Given the description of an element on the screen output the (x, y) to click on. 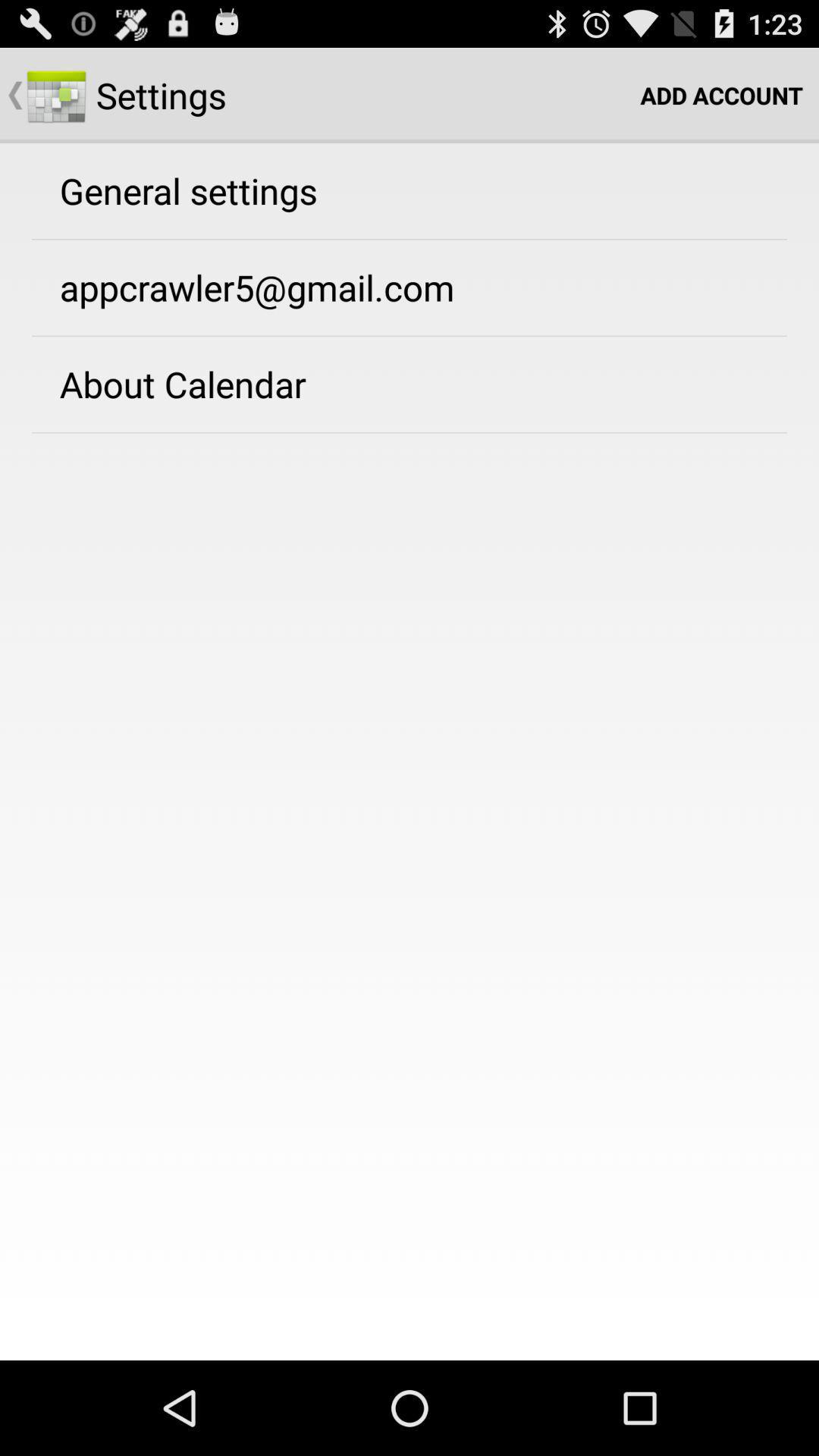
choose the icon below appcrawler5@gmail.com icon (182, 384)
